Given the description of an element on the screen output the (x, y) to click on. 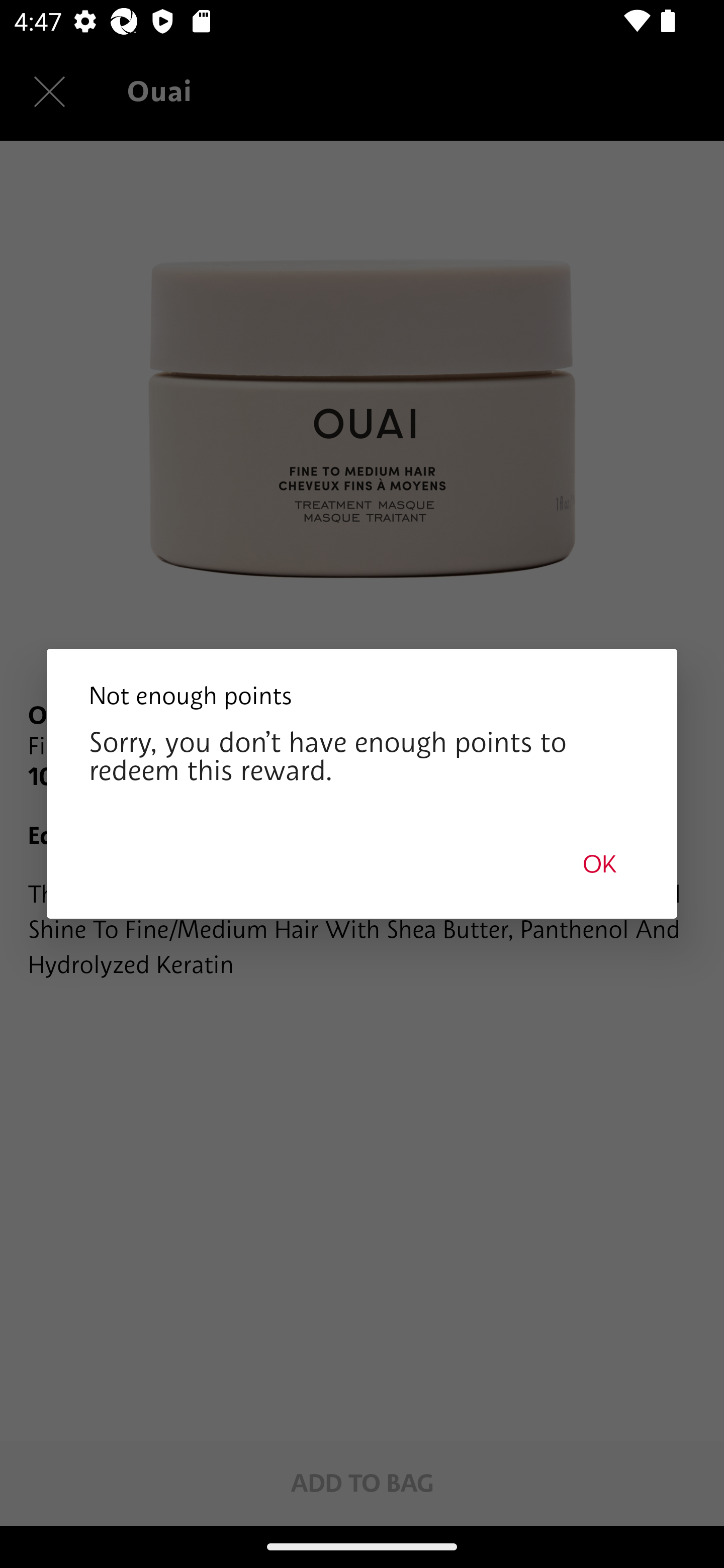
OK (599, 863)
